Given the description of an element on the screen output the (x, y) to click on. 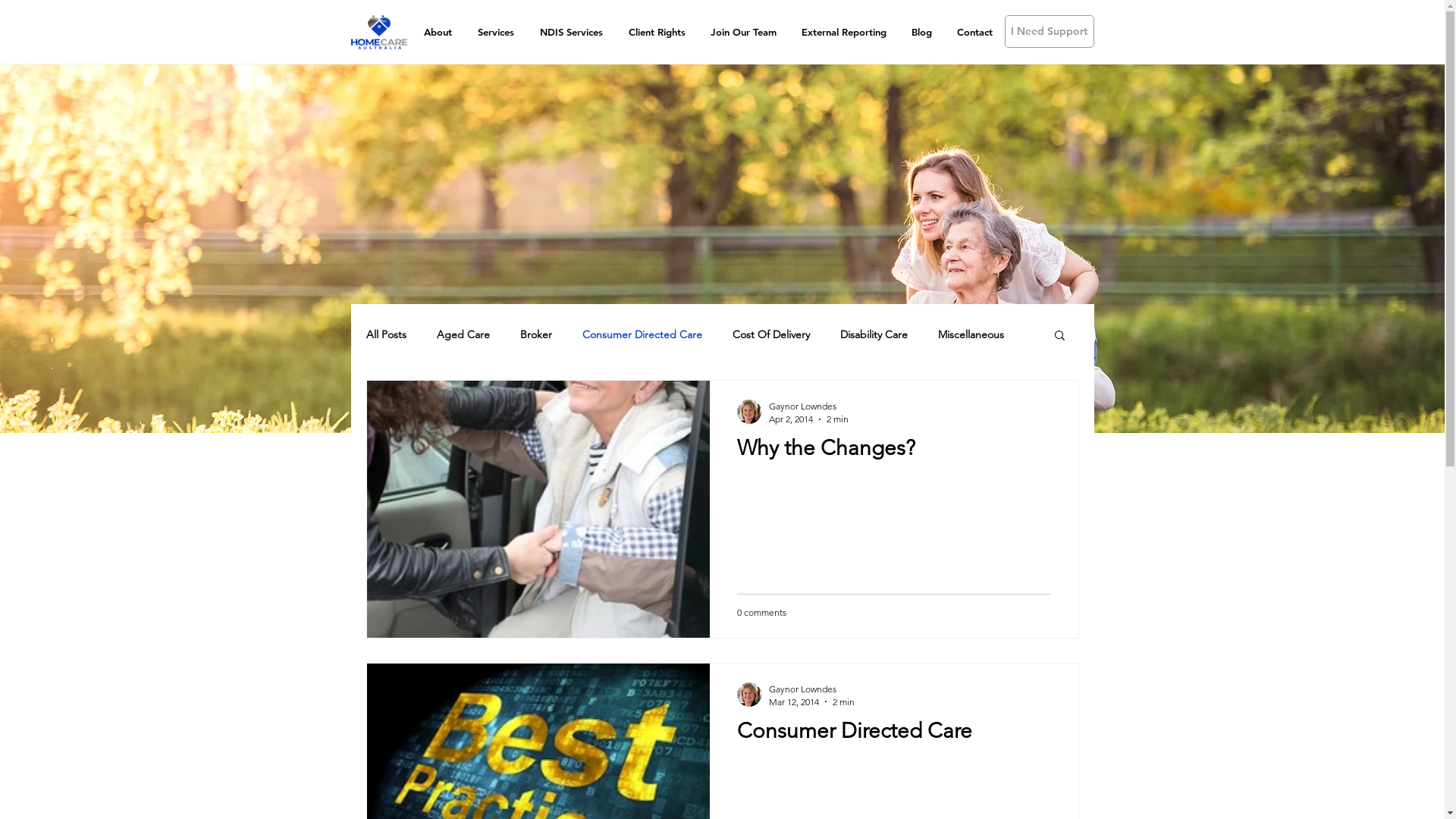
About Element type: text (437, 31)
Client Rights Element type: text (656, 31)
Blog Element type: text (921, 31)
Join Our Team Element type: text (742, 31)
Why the Changes? Element type: text (894, 451)
0 comments Element type: text (761, 612)
Contact Element type: text (974, 31)
NDIS Services Element type: text (570, 31)
I Need Support Element type: text (1048, 31)
Consumer Directed Care Element type: text (894, 733)
Services Element type: text (495, 31)
